Given the description of an element on the screen output the (x, y) to click on. 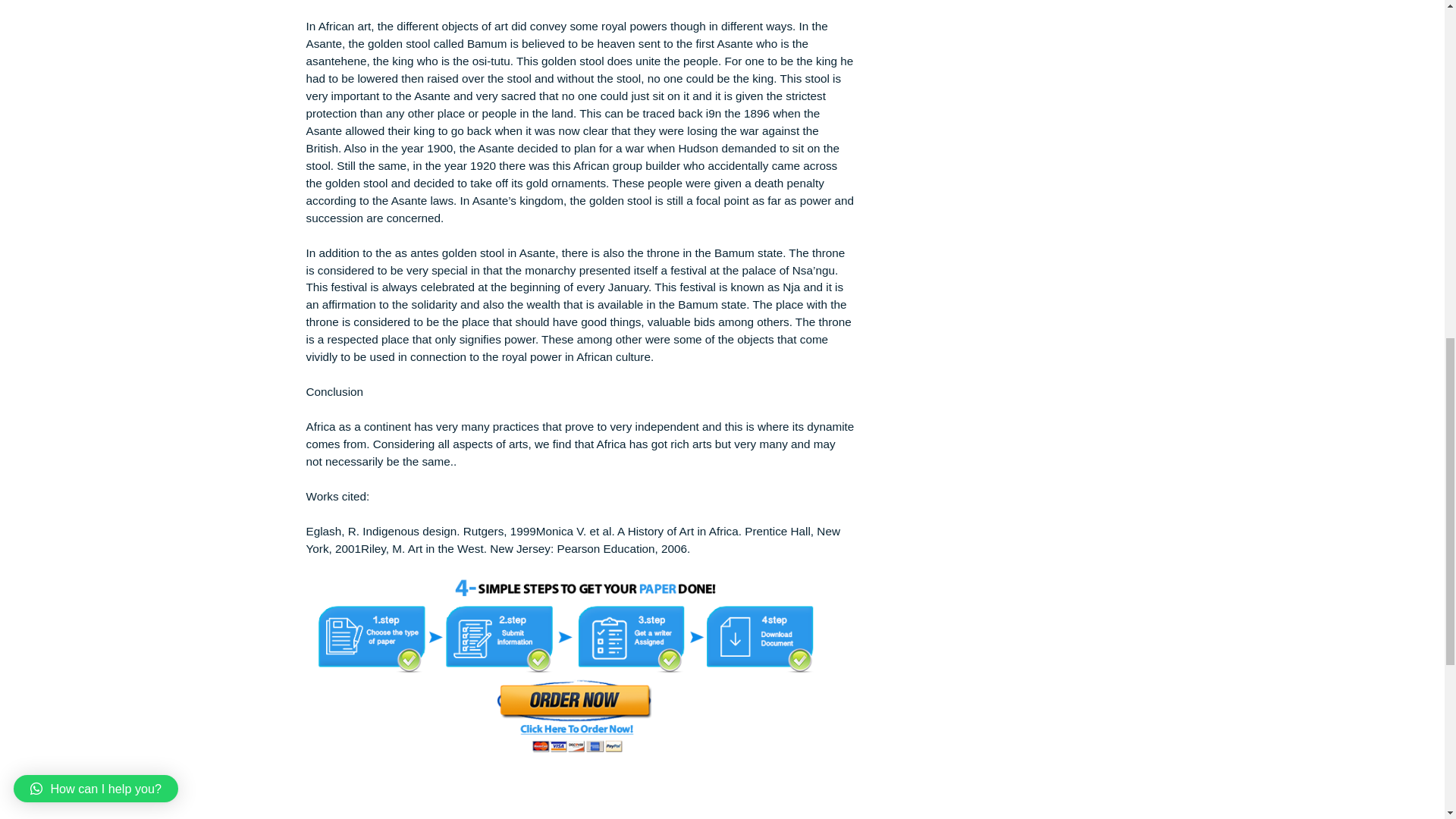
How can I help you? (106, 57)
